Given the description of an element on the screen output the (x, y) to click on. 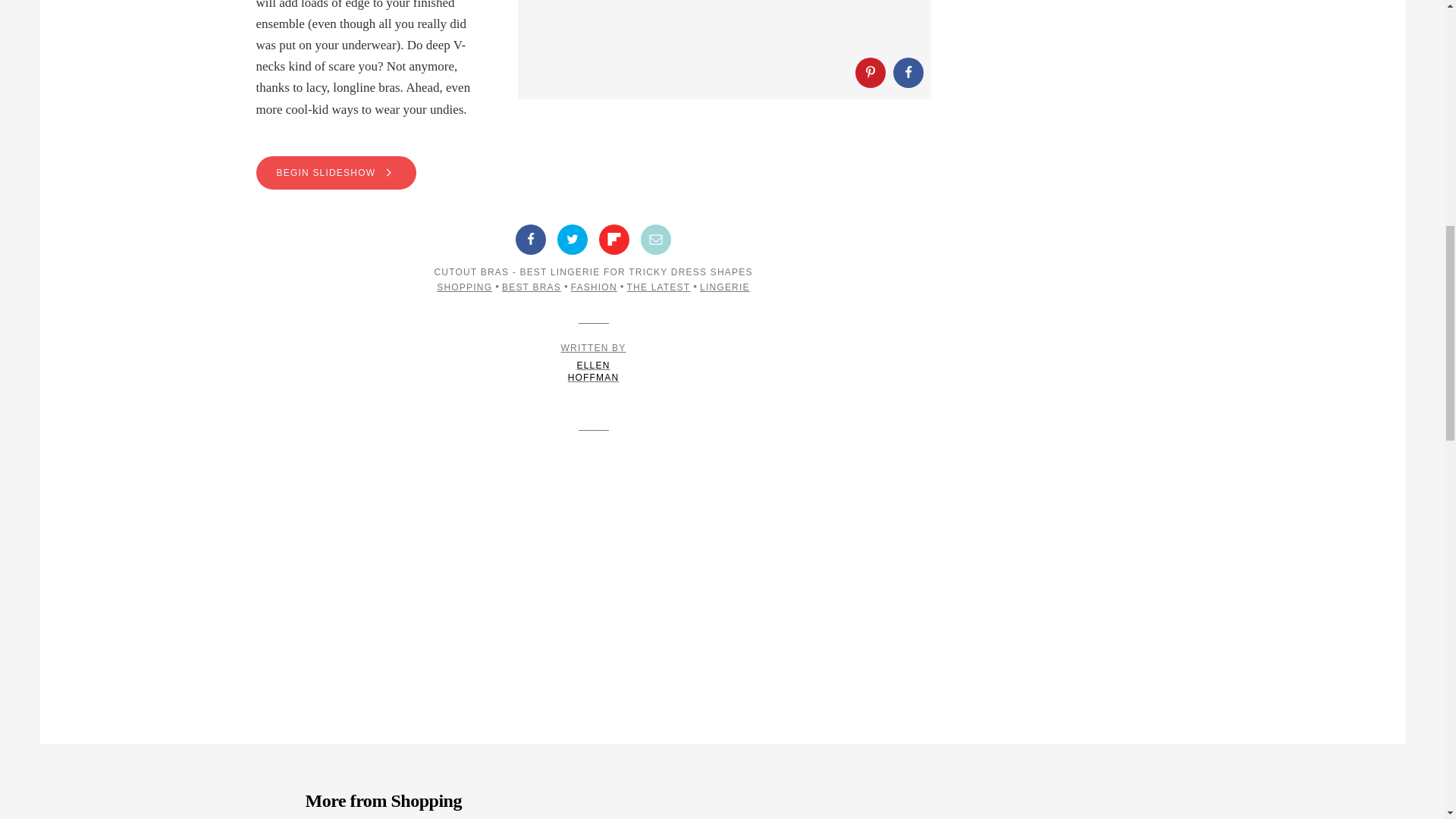
THE LATEST (658, 286)
Share by Email (655, 239)
BEGIN SLIDESHOW (336, 172)
BEGIN SLIDESHOW (593, 172)
BEST BRAS (531, 286)
FASHION (594, 363)
Share on Pinterest (593, 286)
LINGERIE (870, 72)
Share on Twitter (724, 286)
